Given the description of an element on the screen output the (x, y) to click on. 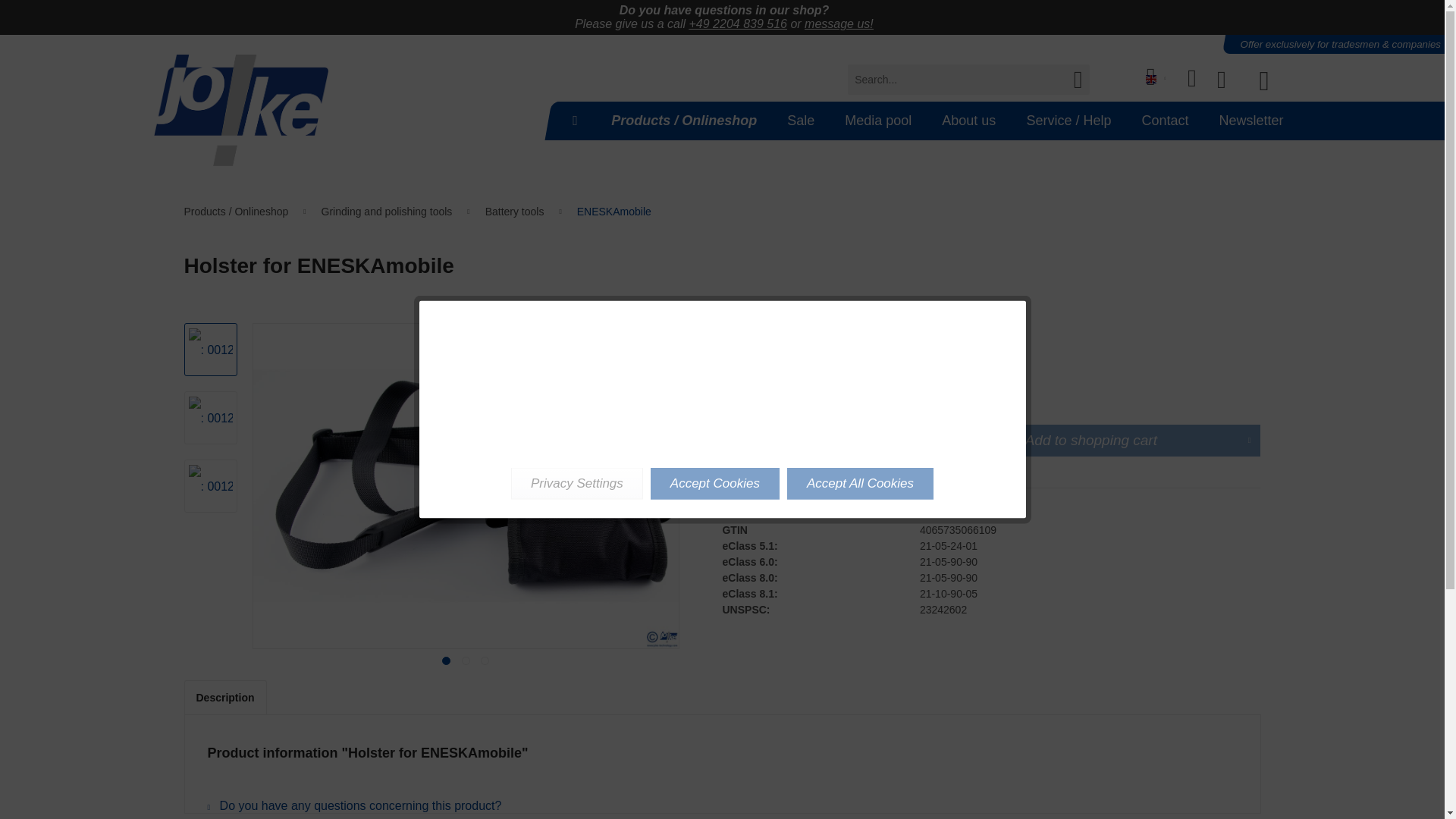
Sale (800, 120)
Shopping cart (1275, 78)
Media pool (877, 120)
Newsletter (1251, 120)
Contact (1164, 120)
Sale (800, 120)
message us! (839, 23)
Newsletter (1251, 120)
About us (968, 120)
joke Technology GmbH - Switch to homepage (239, 110)
